Given the description of an element on the screen output the (x, y) to click on. 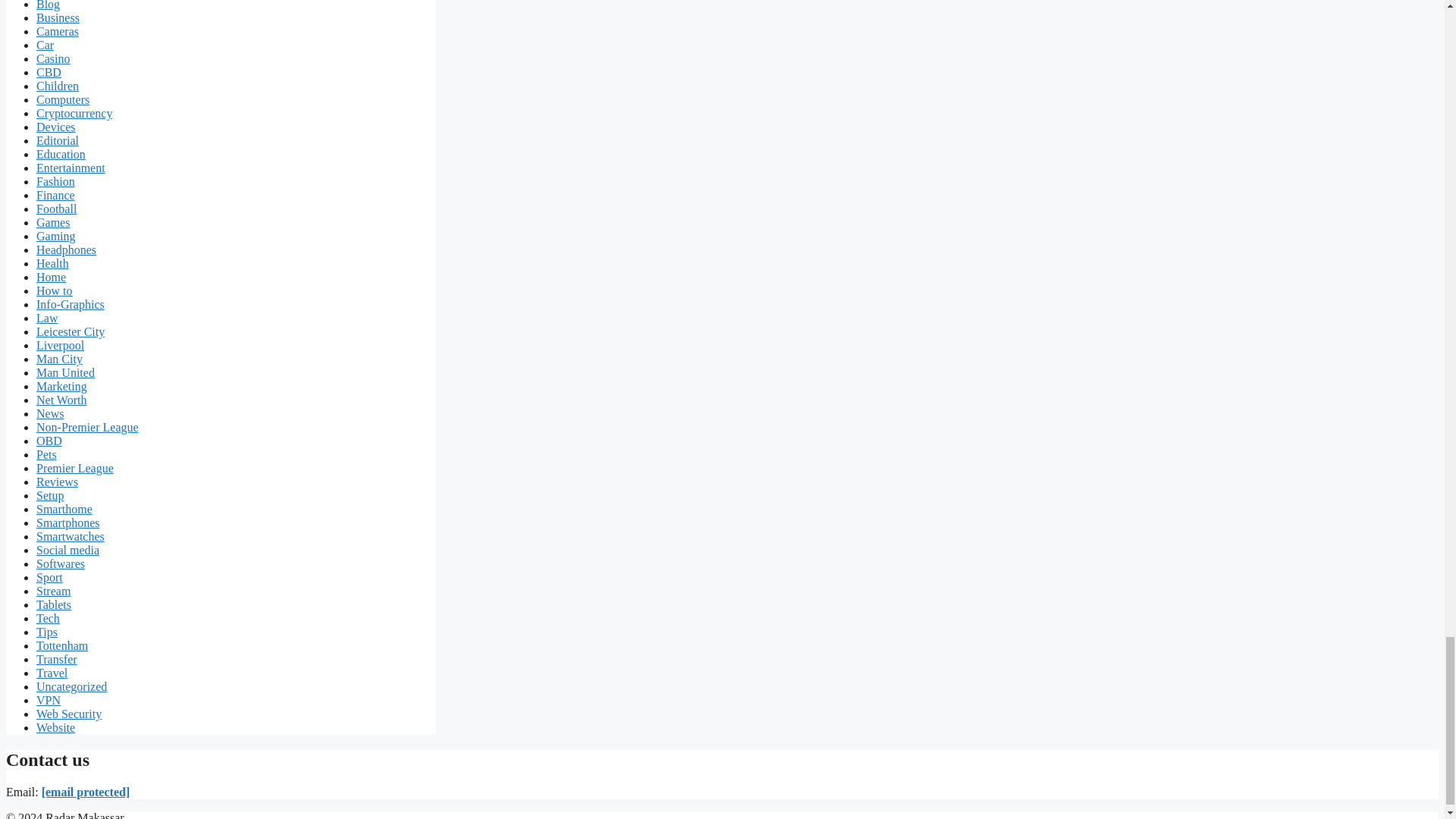
Blog (47, 5)
Cameras (57, 31)
Casino (52, 58)
Car (44, 44)
CBD (48, 72)
Business (58, 17)
